Given the description of an element on the screen output the (x, y) to click on. 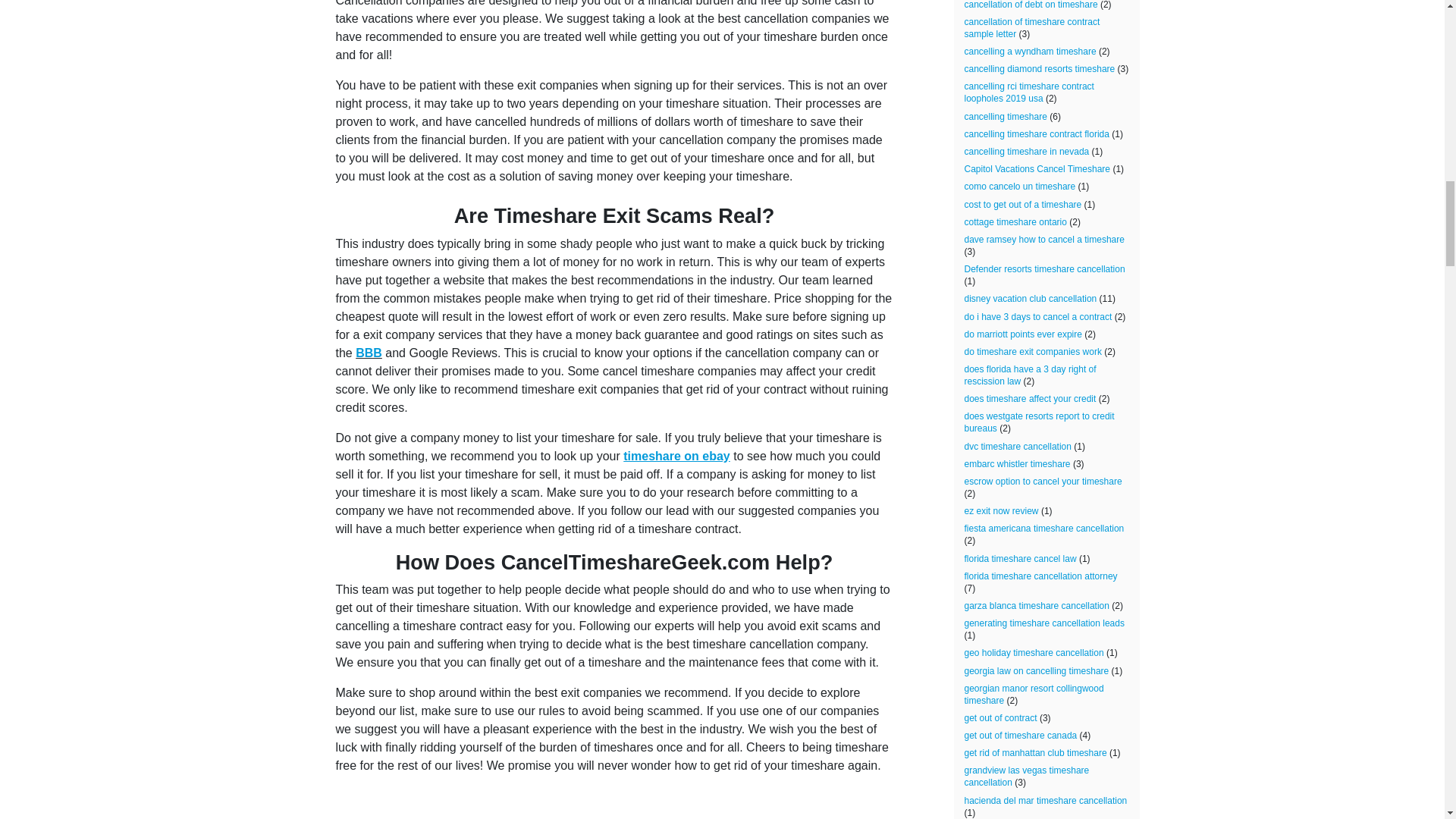
BBB (368, 352)
timeshare on ebay (675, 455)
